Given the description of an element on the screen output the (x, y) to click on. 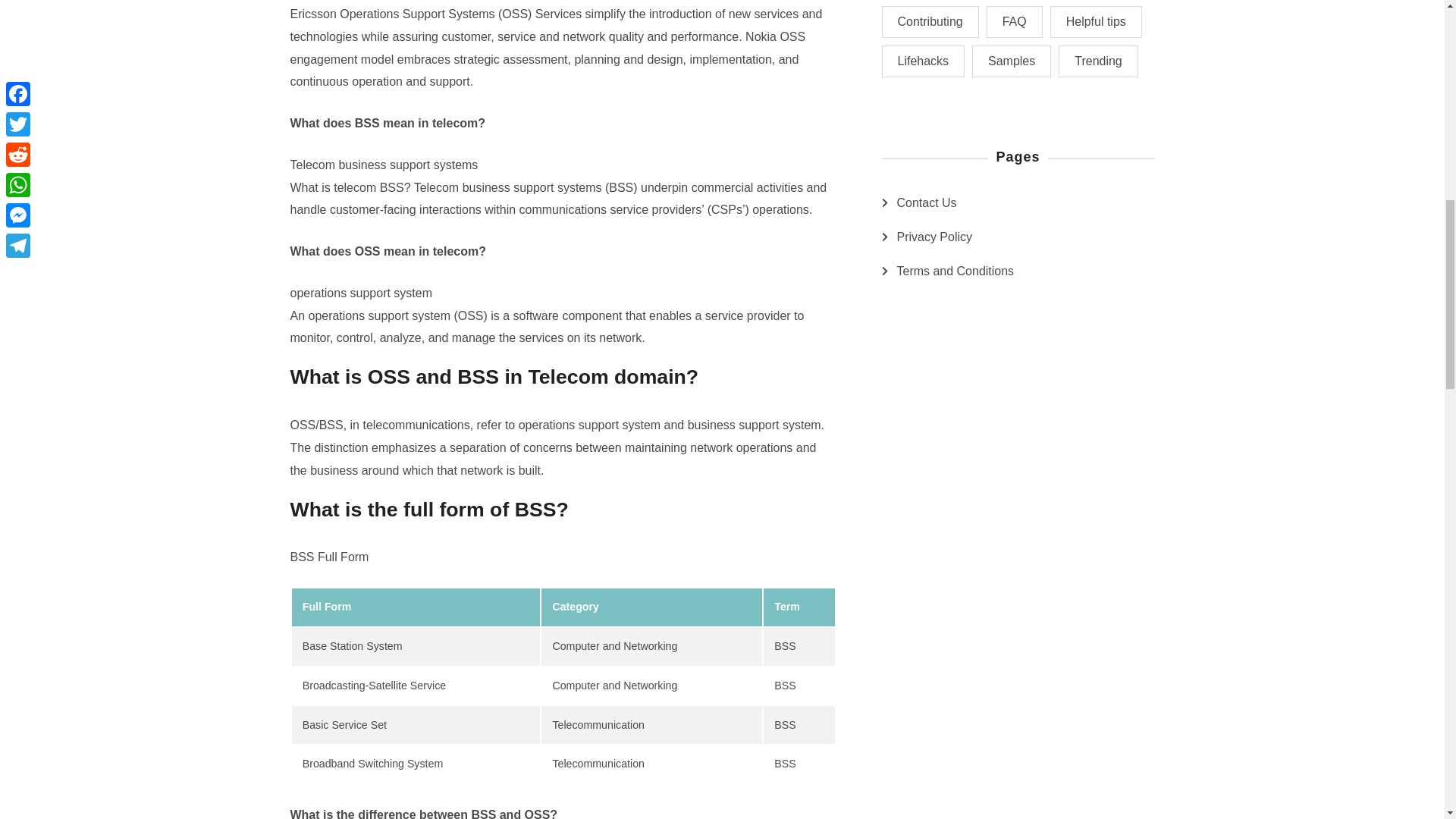
Contributing (929, 21)
FAQ (1014, 21)
